Given the description of an element on the screen output the (x, y) to click on. 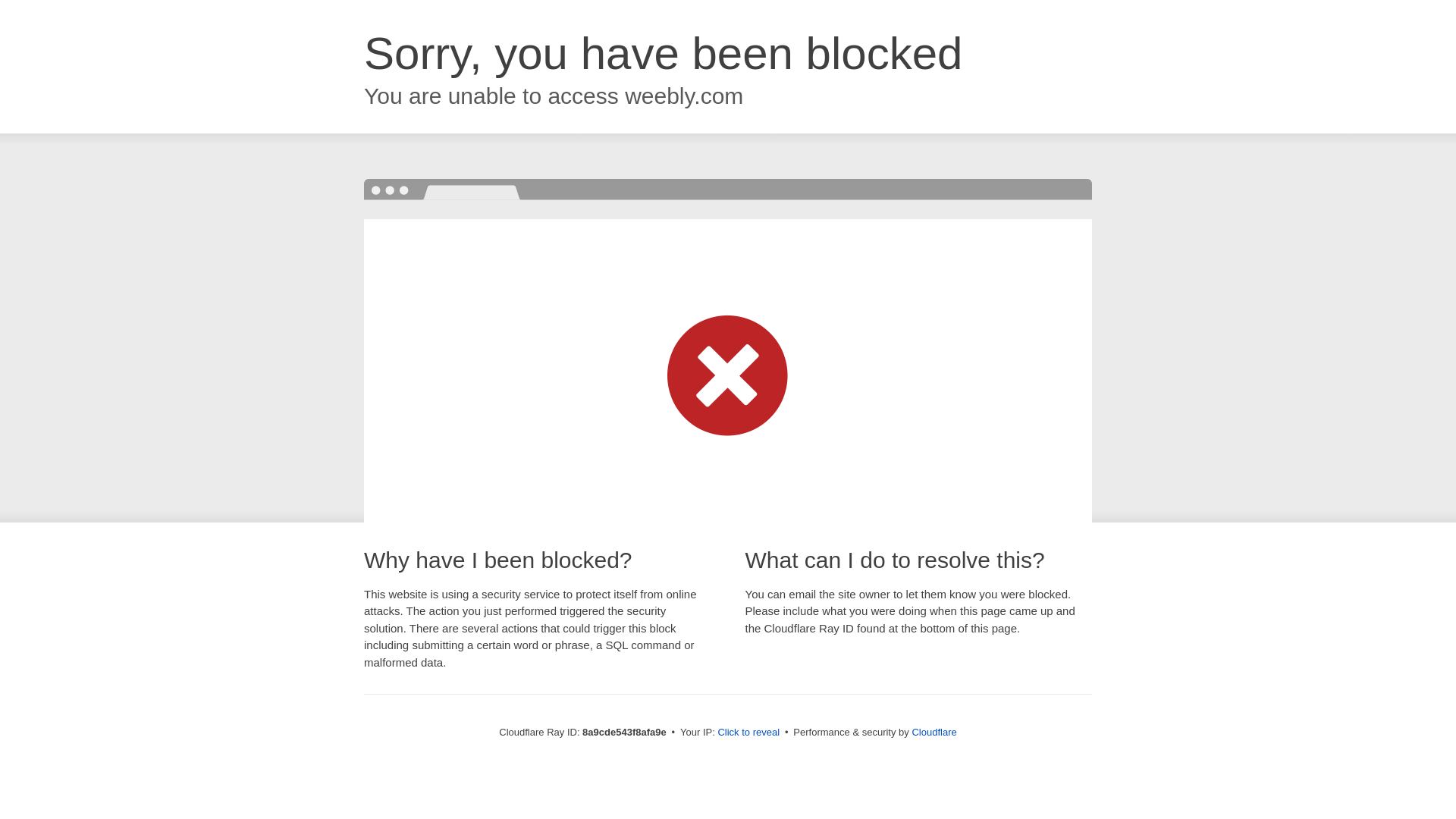
Cloudflare (933, 731)
Click to reveal (747, 732)
